Given the description of an element on the screen output the (x, y) to click on. 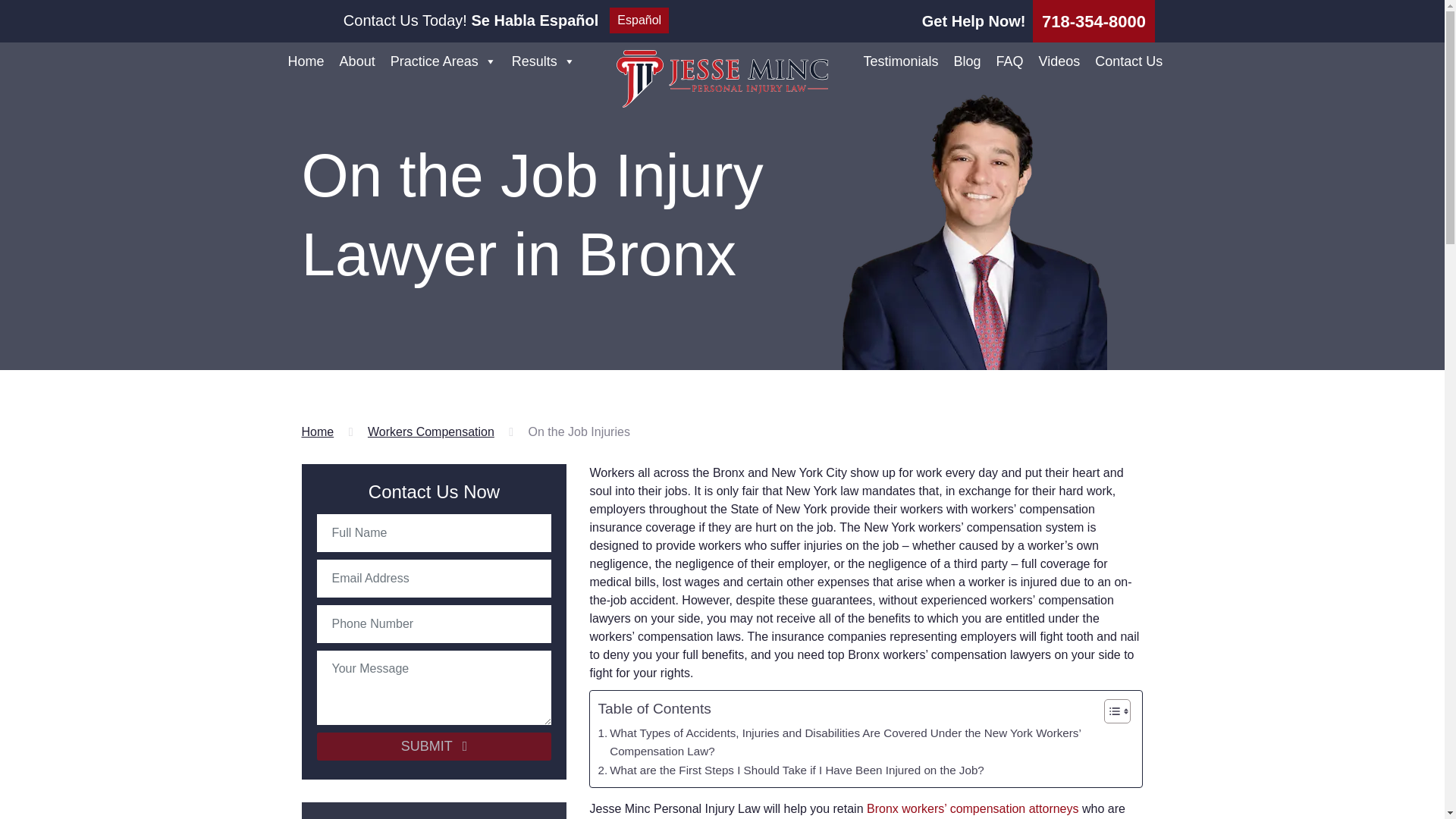
Click to Submit (434, 746)
718-354-8000 (1093, 21)
Free Consultation (1093, 21)
Jesse Minc Personal Injury Law (721, 78)
